Given the description of an element on the screen output the (x, y) to click on. 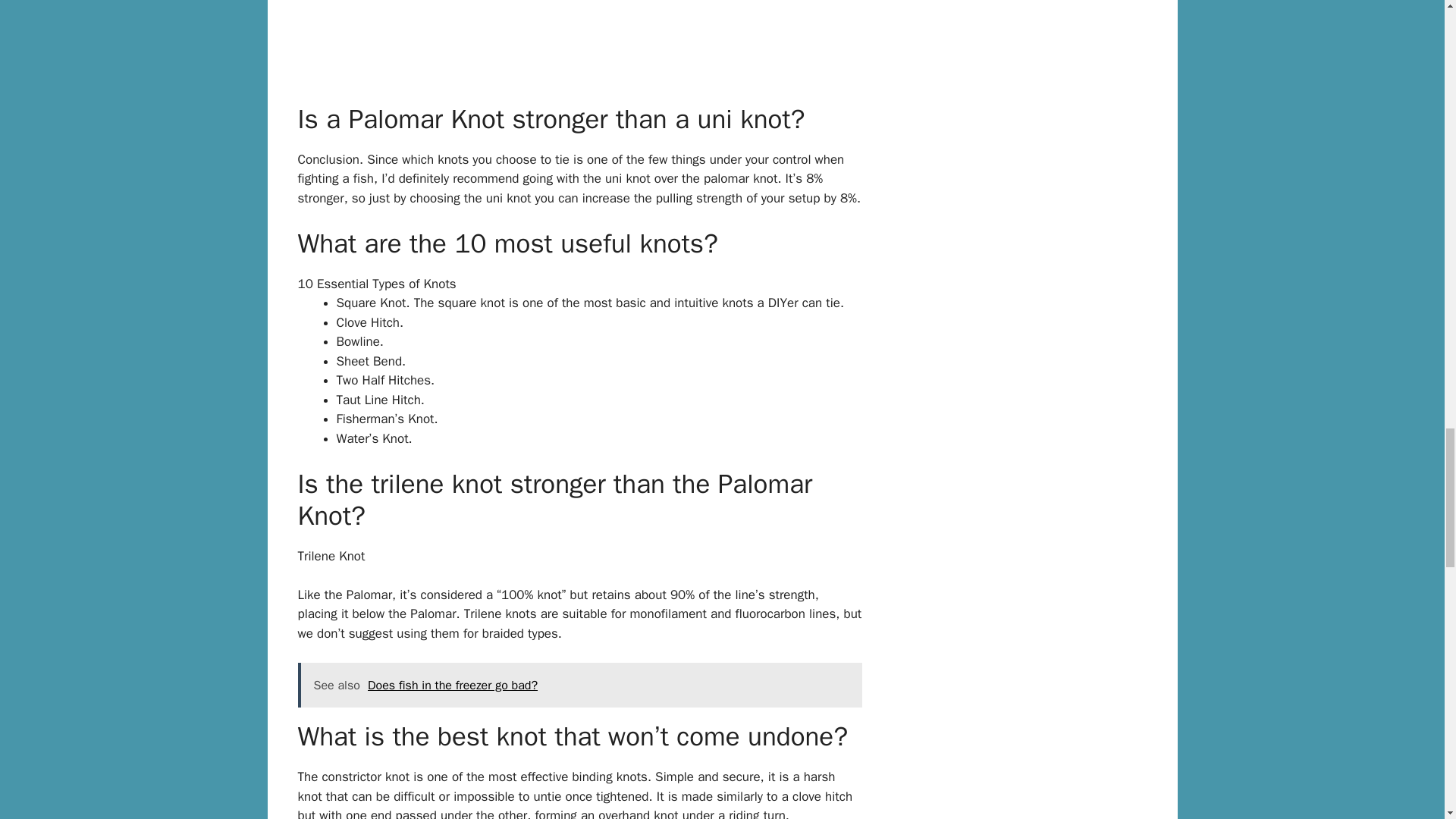
What is the easiest and strongest fishing knot? (579, 38)
See also  Does fish in the freezer go bad? (579, 685)
